Given the description of an element on the screen output the (x, y) to click on. 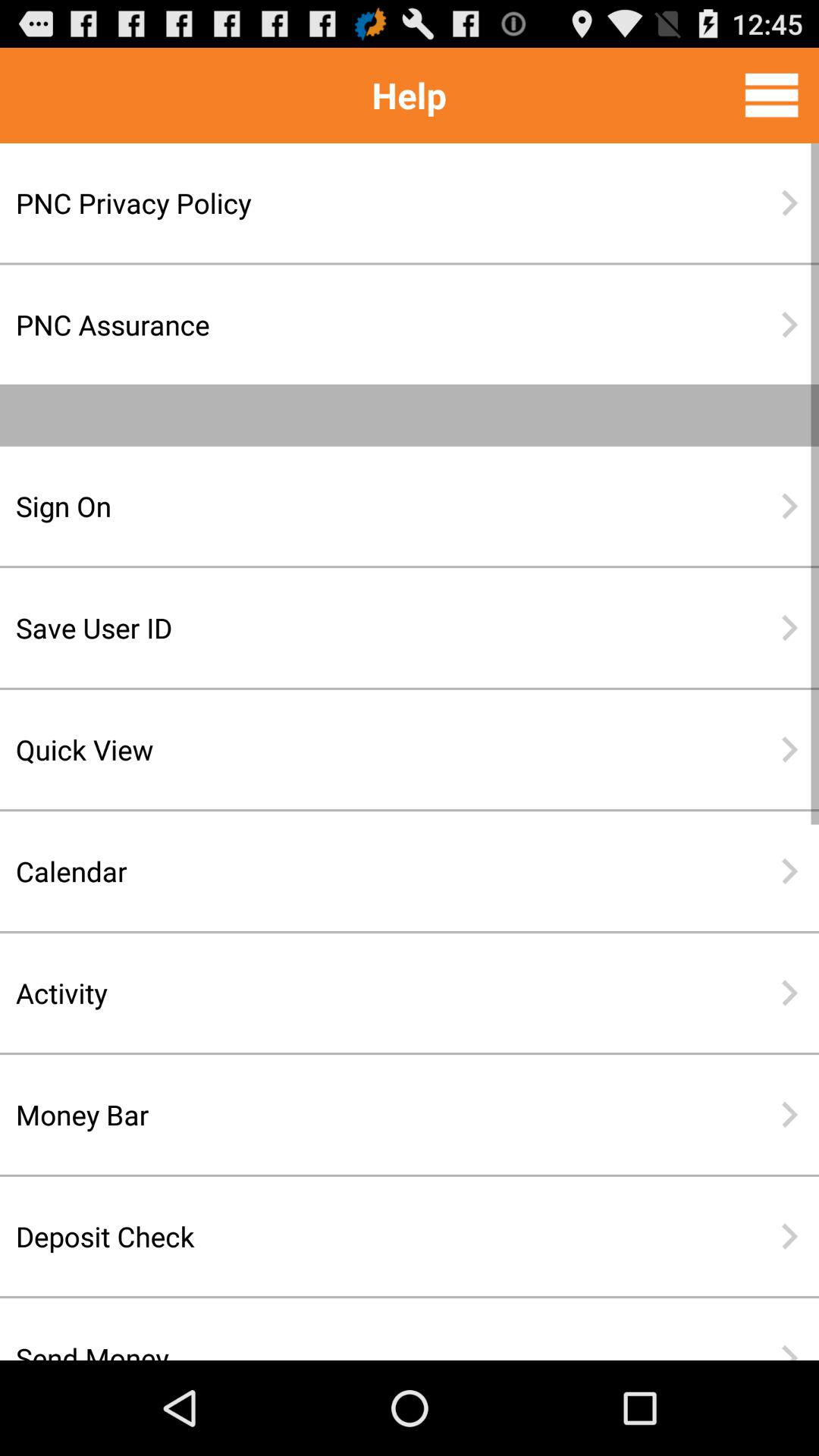
press item to the right of the pnc assurance (789, 324)
